Given the description of an element on the screen output the (x, y) to click on. 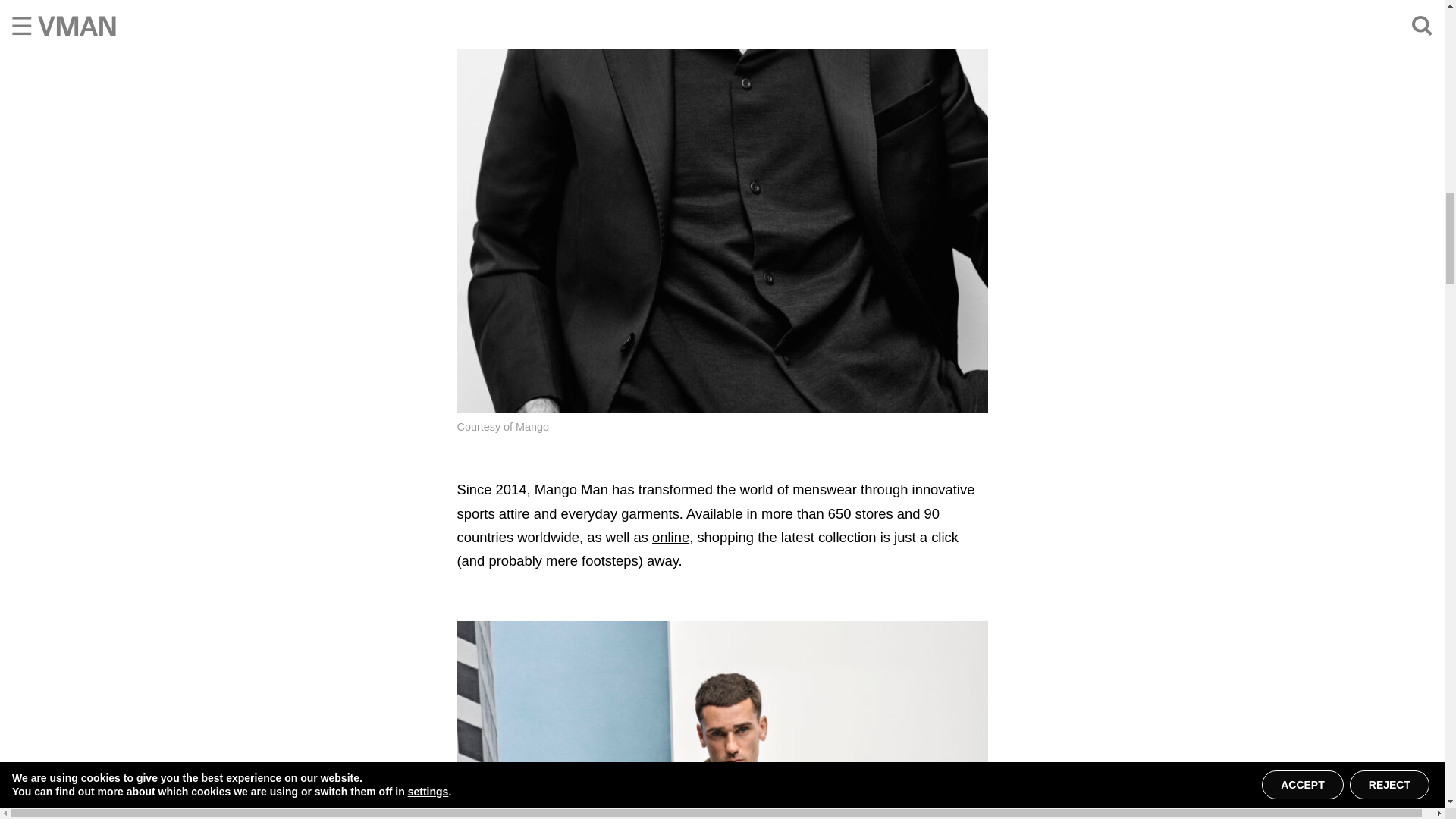
online (670, 537)
